Given the description of an element on the screen output the (x, y) to click on. 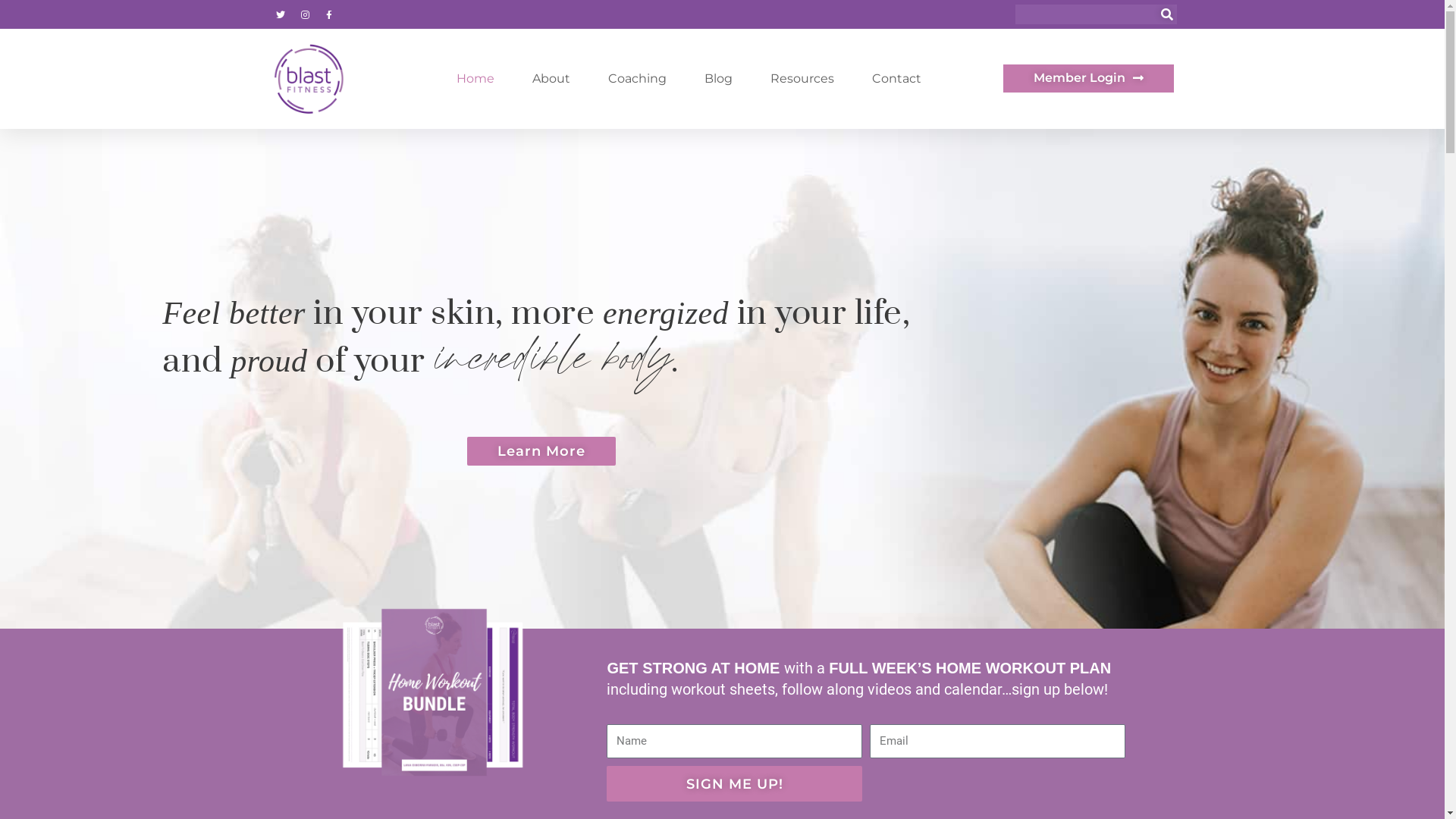
Member Login Element type: text (1088, 78)
Resources Element type: text (802, 78)
Contact Element type: text (896, 78)
Home Element type: text (475, 78)
About Element type: text (551, 78)
Learn More Element type: text (541, 450)
Blog Element type: text (718, 78)
SIGN ME UP! Element type: text (734, 783)
Coaching Element type: text (637, 78)
Search Element type: text (1166, 14)
